Given the description of an element on the screen output the (x, y) to click on. 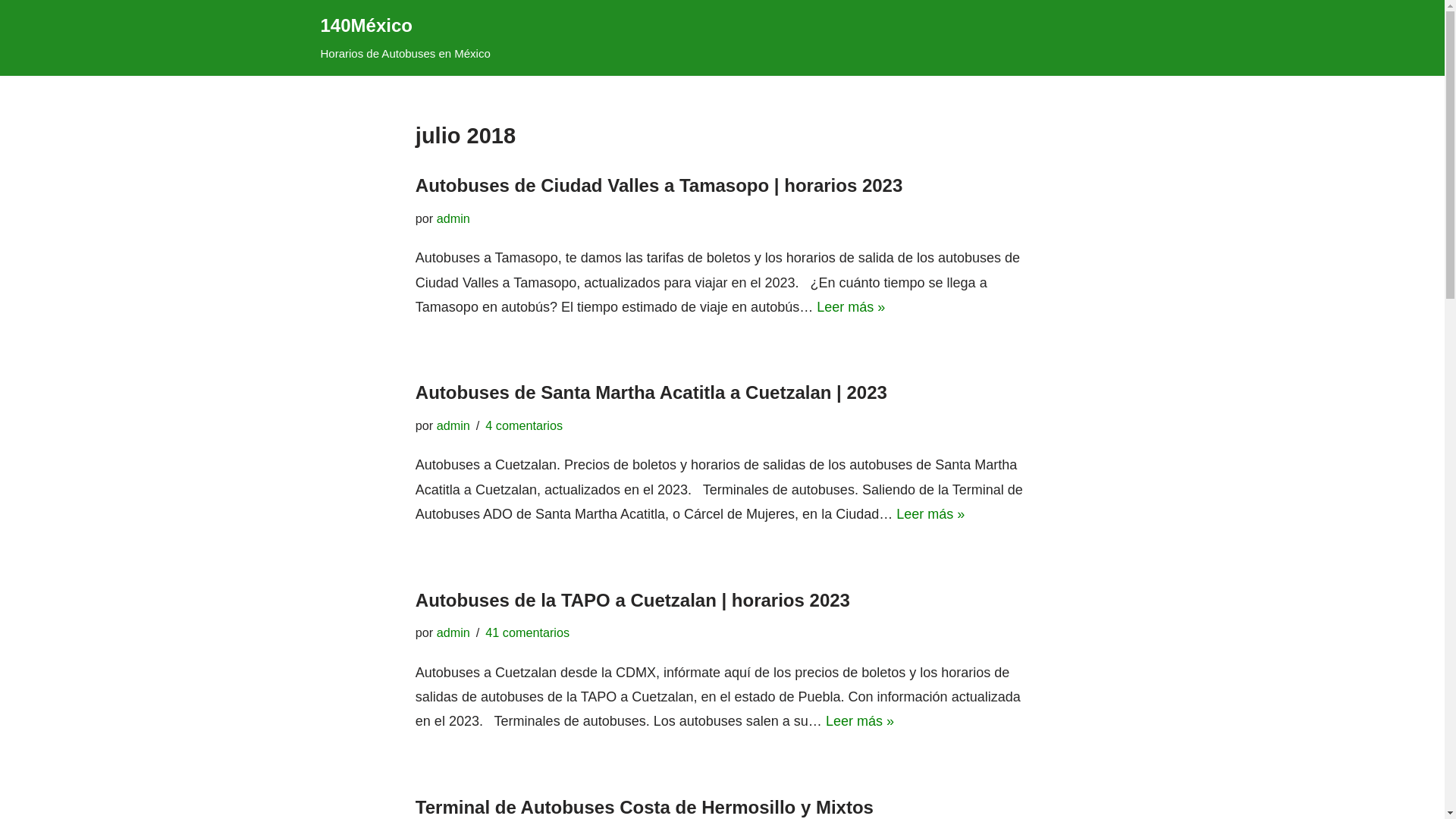
4 comentarios Element type: text (523, 425)
Autobuses de Ciudad Valles a Tamasopo | horarios 2023 Element type: text (658, 185)
41 comentarios Element type: text (527, 632)
Autobuses de Santa Martha Acatitla a Cuetzalan | 2023 Element type: text (651, 392)
admin Element type: text (453, 632)
admin Element type: text (453, 218)
Saltar al contenido Element type: text (11, 31)
Terminal de Autobuses Costa de Hermosillo y Mixtos Element type: text (644, 807)
Autobuses de la TAPO a Cuetzalan | horarios 2023 Element type: text (632, 599)
admin Element type: text (453, 425)
